Given the description of an element on the screen output the (x, y) to click on. 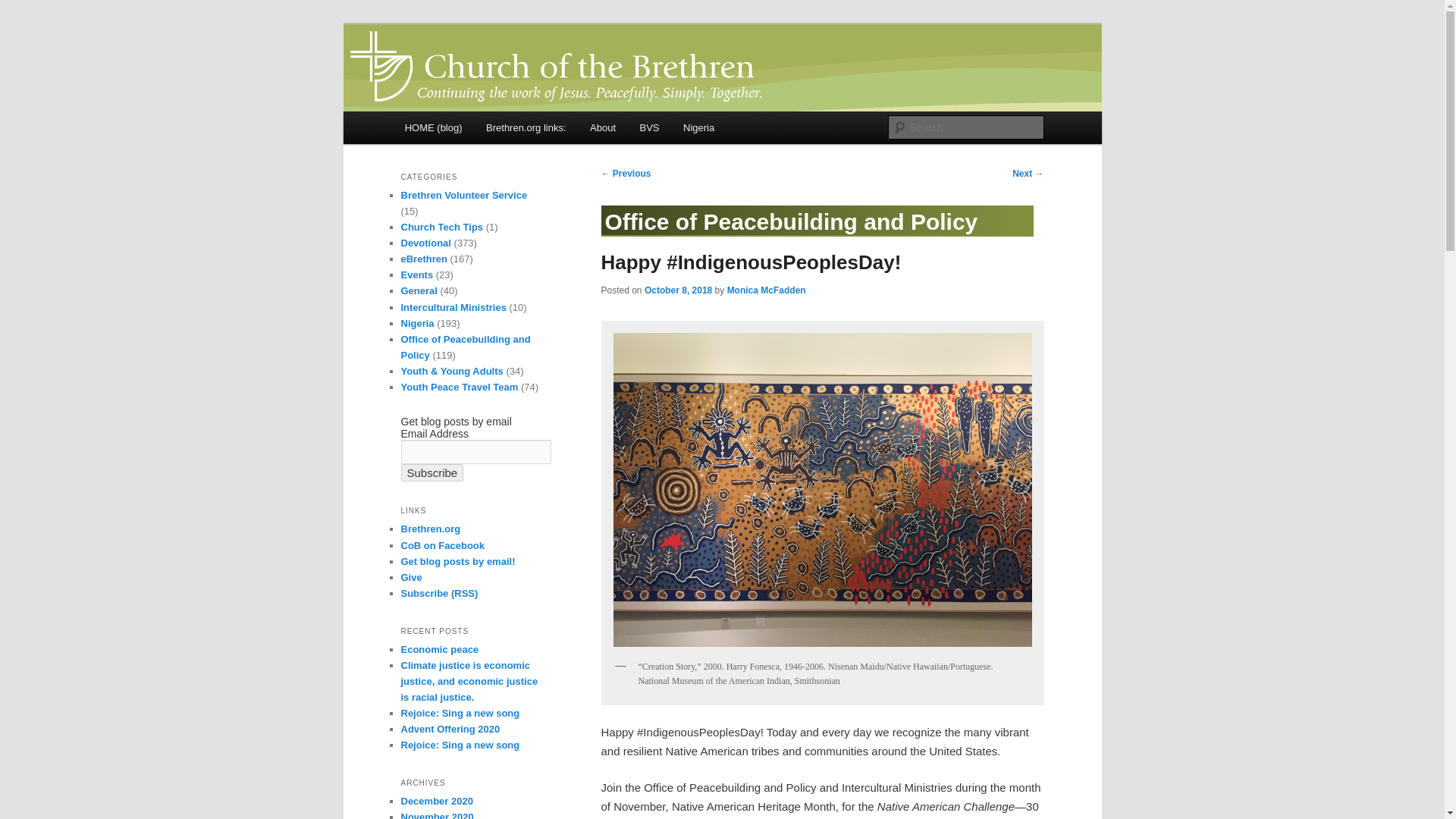
Subscribe to this blog (457, 561)
Devotional (424, 242)
Intercultural Ministries (452, 307)
The Official Website of the Church of the Brethren (430, 528)
Nigeria (416, 323)
Nigeria Crisis Response (698, 127)
Give (411, 577)
Events (416, 274)
Church Tech Tips (441, 226)
Office of Peacebuilding and Policy (815, 238)
General (418, 290)
October 8, 2018 (678, 290)
eBrethren (423, 258)
CoB on Facebook (442, 545)
